Given the description of an element on the screen output the (x, y) to click on. 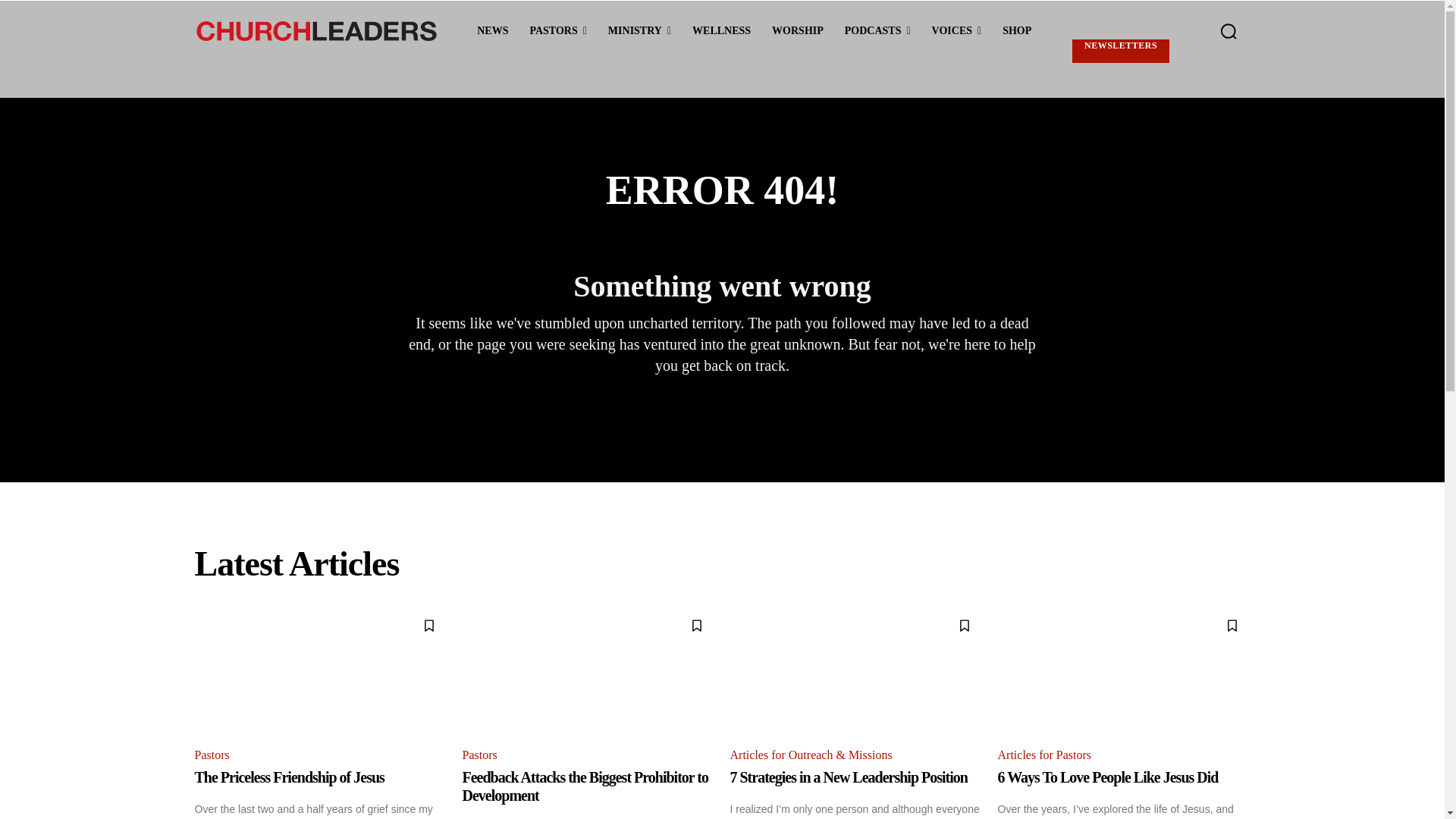
PODCASTS (877, 30)
MINISTRY (638, 30)
PASTORS (557, 30)
WORSHIP (797, 30)
7 Strategies in a New Leadership Position (847, 777)
Feedback Attacks the Biggest Prohibitor to Development (588, 670)
Newsletters (1120, 51)
The Priceless Friendship of Jesus (319, 670)
WELLNESS (721, 30)
Feedback Attacks the Biggest Prohibitor to Development (585, 786)
